Given the description of an element on the screen output the (x, y) to click on. 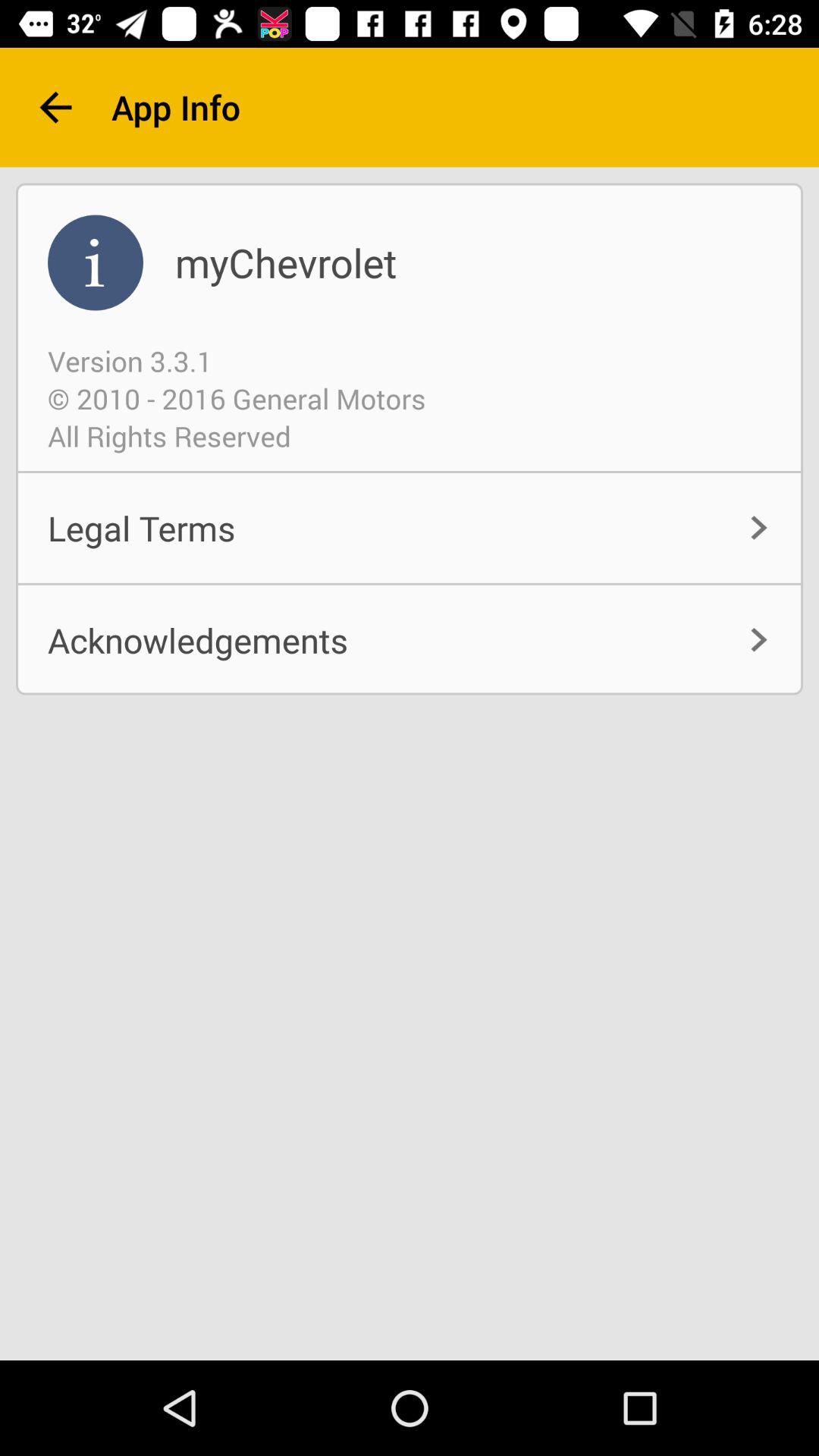
turn on item below all rights reserved item (409, 527)
